Given the description of an element on the screen output the (x, y) to click on. 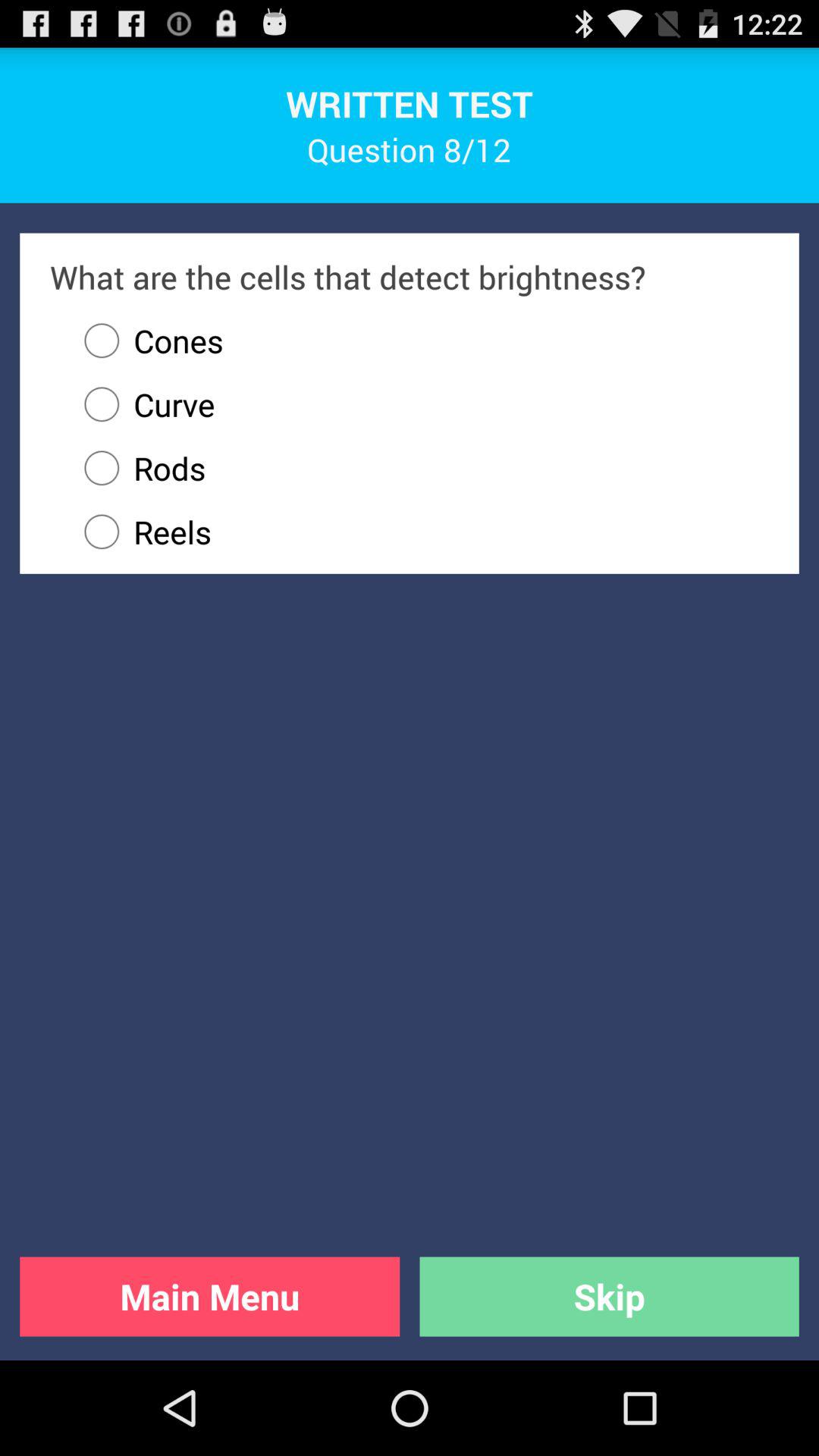
choose the item above the main menu (418, 531)
